Given the description of an element on the screen output the (x, y) to click on. 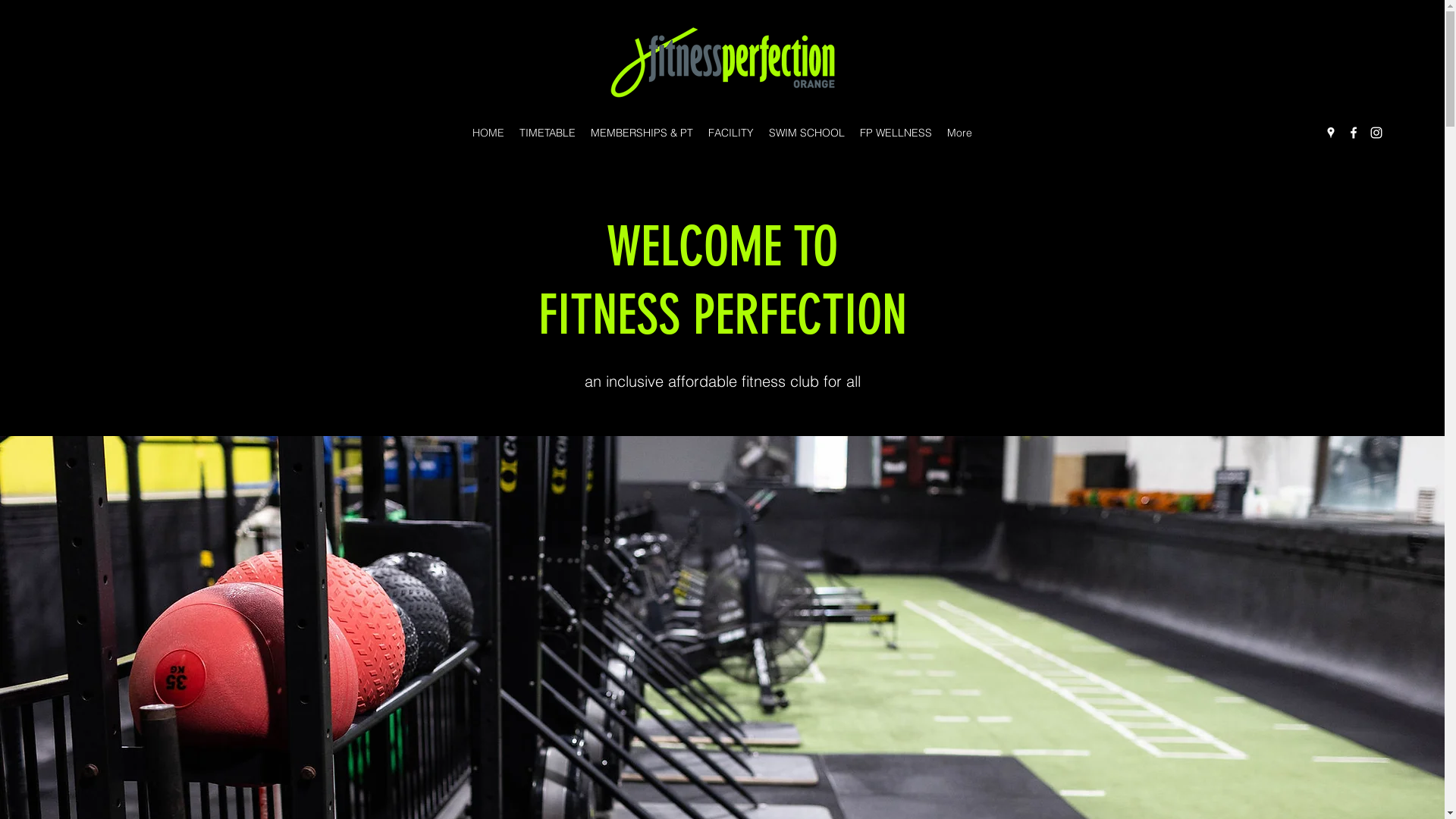
FP WELLNESS Element type: text (895, 132)
FACILITY Element type: text (730, 132)
HOME Element type: text (487, 132)
SWIM SCHOOL Element type: text (806, 132)
MEMBERSHIPS & PT Element type: text (641, 132)
TIMETABLE Element type: text (547, 132)
